Given the description of an element on the screen output the (x, y) to click on. 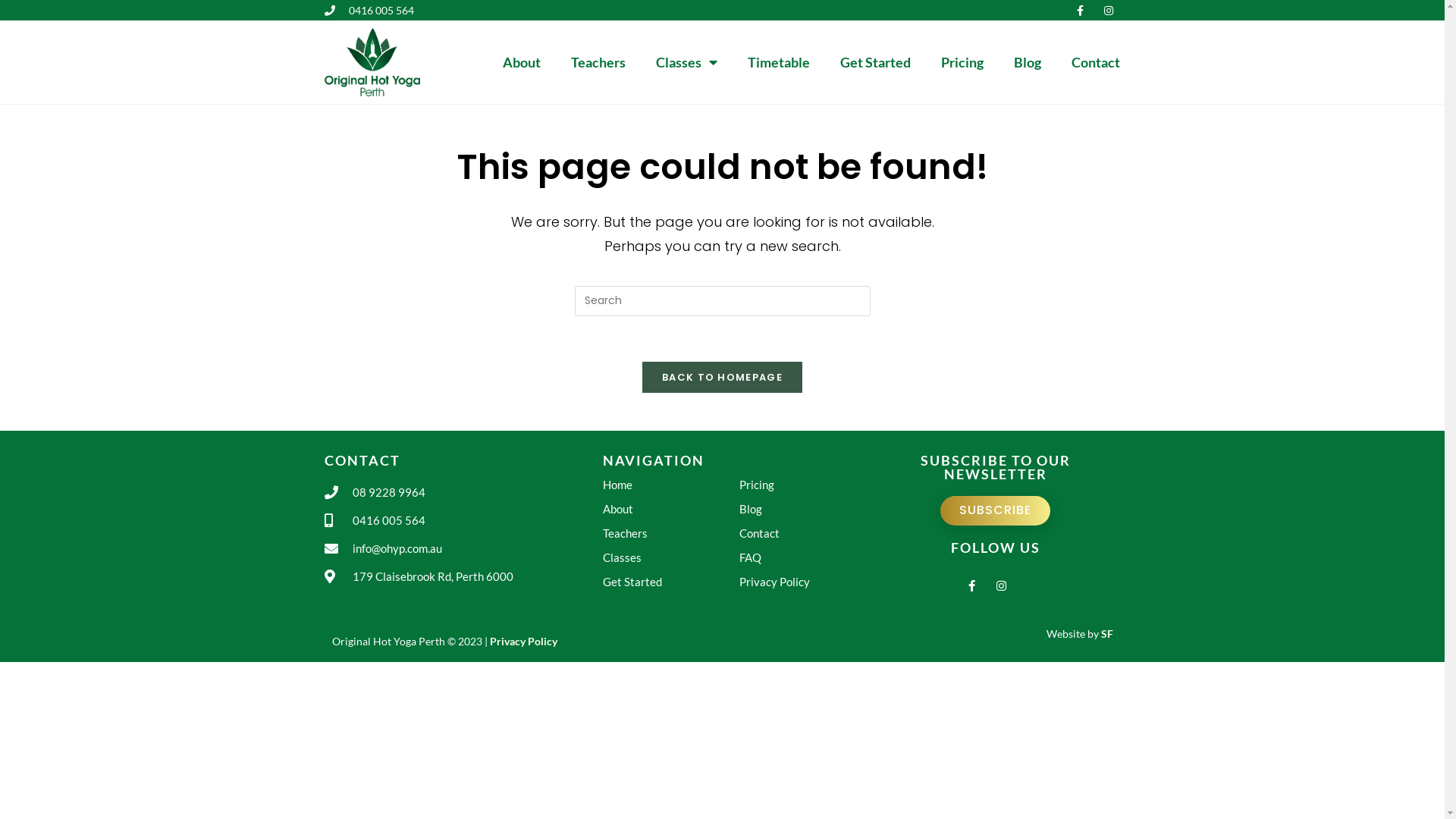
info@ohyp.com.au Element type: text (463, 548)
Classes Element type: text (686, 61)
Privacy Policy Element type: text (523, 640)
Pricing Element type: text (807, 484)
SUBSCRIBE Element type: text (995, 510)
Teachers Element type: text (670, 533)
Get Started Element type: text (875, 61)
Blog Element type: text (807, 508)
Get Started Element type: text (670, 581)
SF Element type: text (1107, 633)
Contact Element type: text (807, 533)
Home Element type: text (670, 484)
FAQ Element type: text (807, 557)
Classes Element type: text (670, 557)
Teachers Element type: text (598, 61)
About Element type: text (521, 61)
Timetable Element type: text (778, 61)
Blog Element type: text (1027, 61)
BACK TO HOMEPAGE Element type: text (722, 376)
0416 005 564 Element type: text (463, 520)
About Element type: text (670, 508)
Privacy Policy Element type: text (807, 581)
08 9228 9964 Element type: text (463, 492)
Pricing Element type: text (962, 61)
0416 005 564 Element type: text (369, 9)
Contact Element type: text (1095, 61)
